Given the description of an element on the screen output the (x, y) to click on. 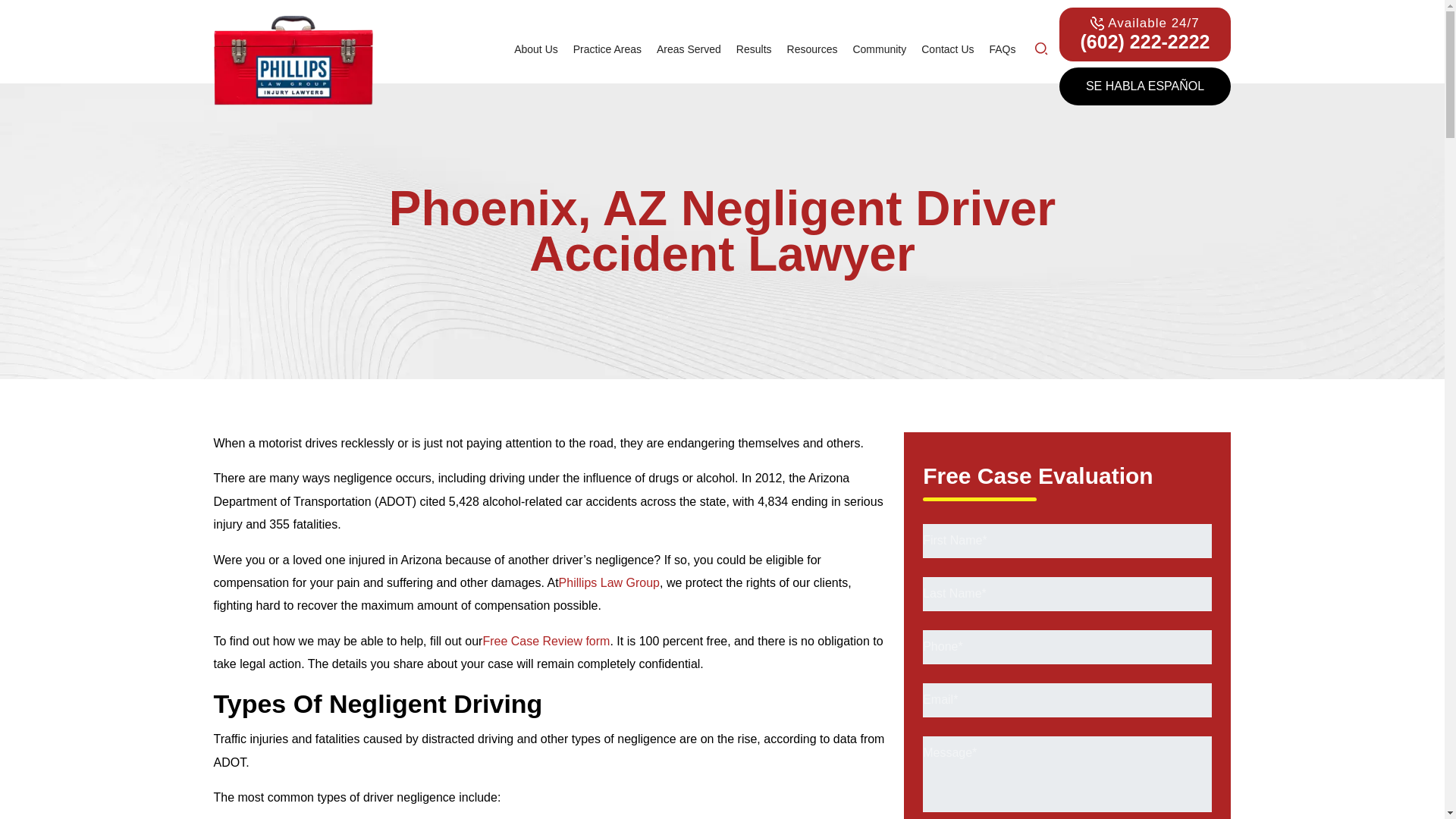
About Us (536, 48)
Practice Areas (607, 48)
Areas Served (689, 48)
